Given the description of an element on the screen output the (x, y) to click on. 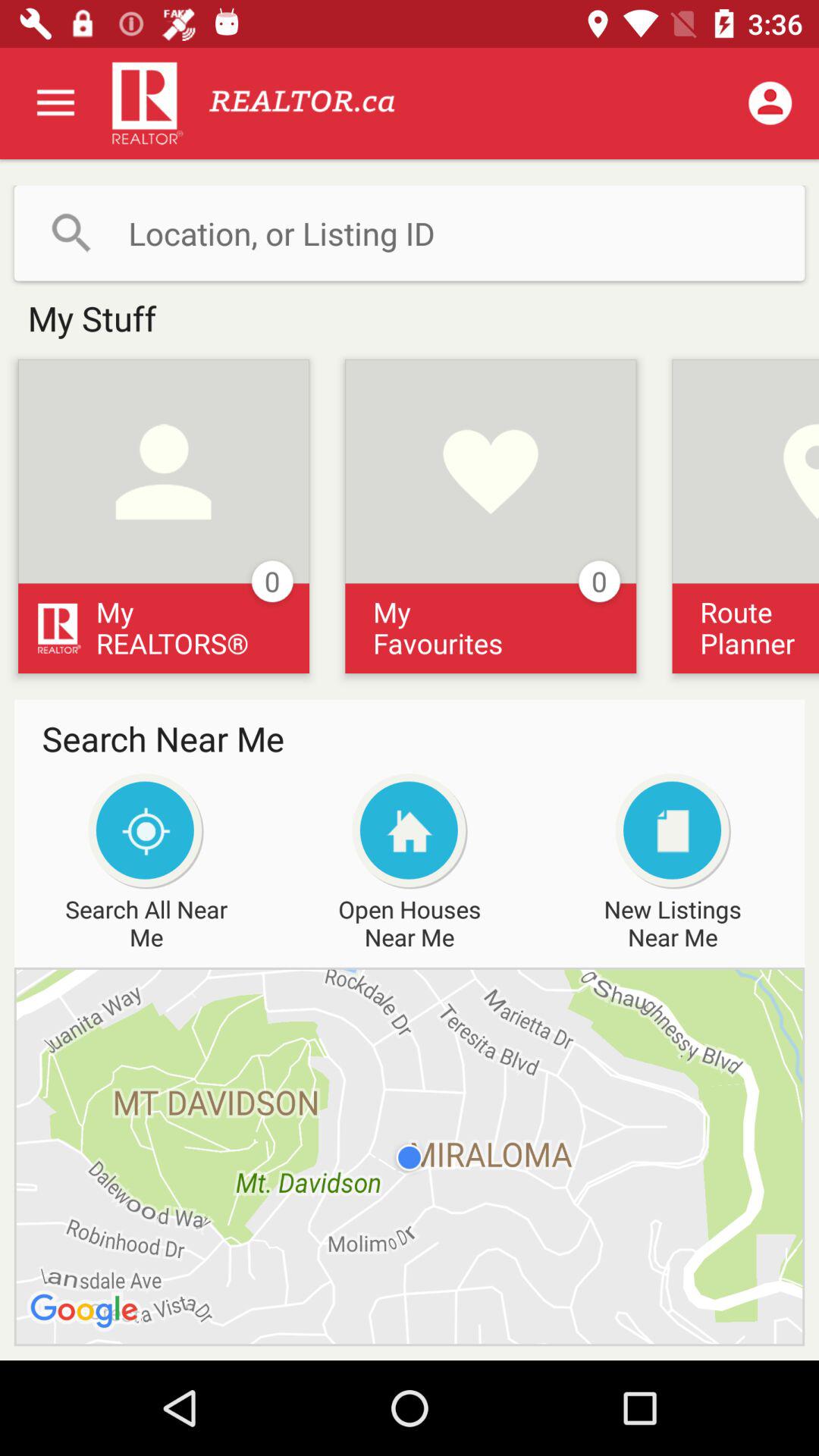
put location (409, 232)
